Given the description of an element on the screen output the (x, y) to click on. 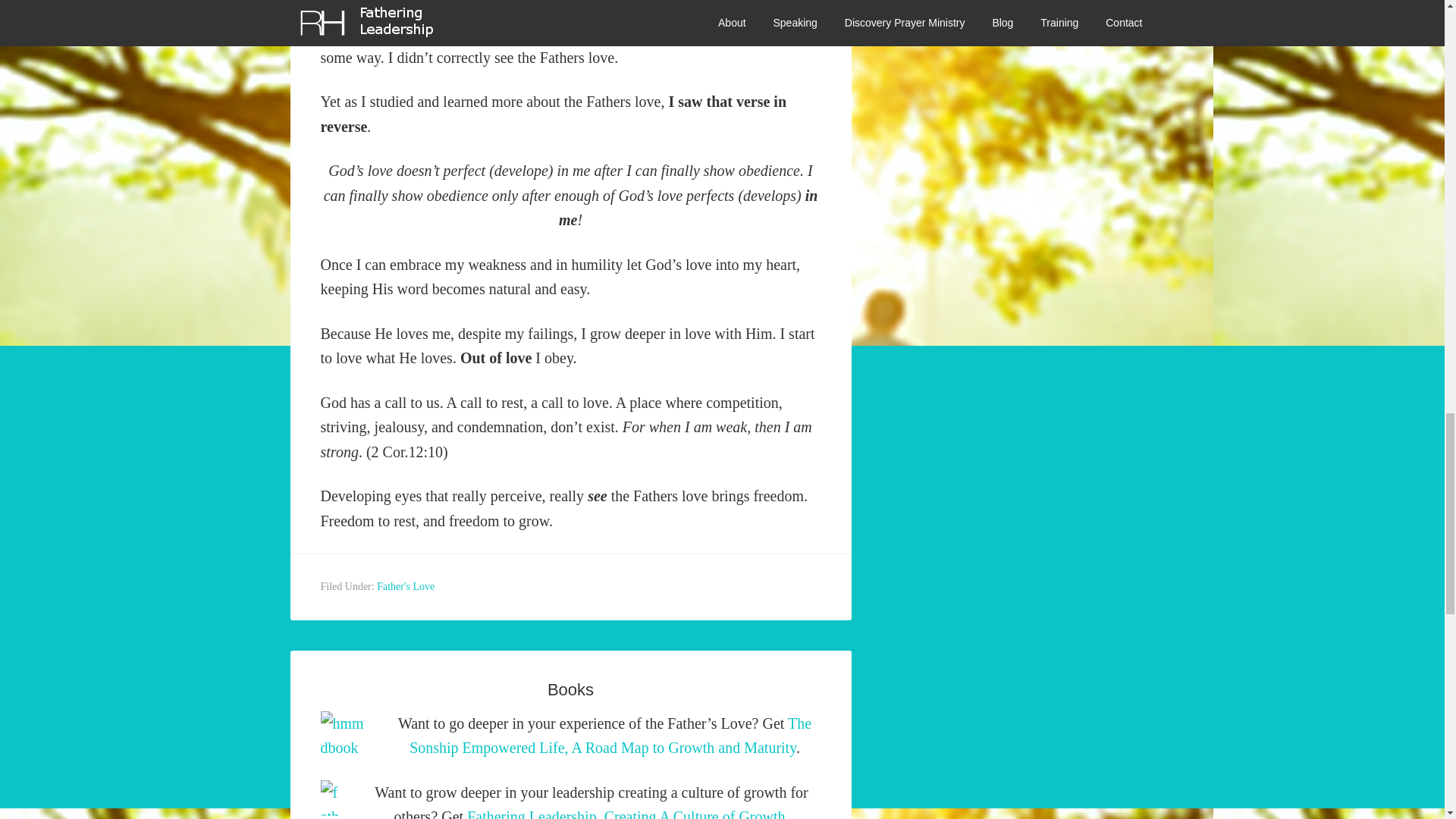
Father's Love (405, 586)
Fathering Leadership, Creating A Culture of Growth (625, 813)
Books (570, 689)
